Given the description of an element on the screen output the (x, y) to click on. 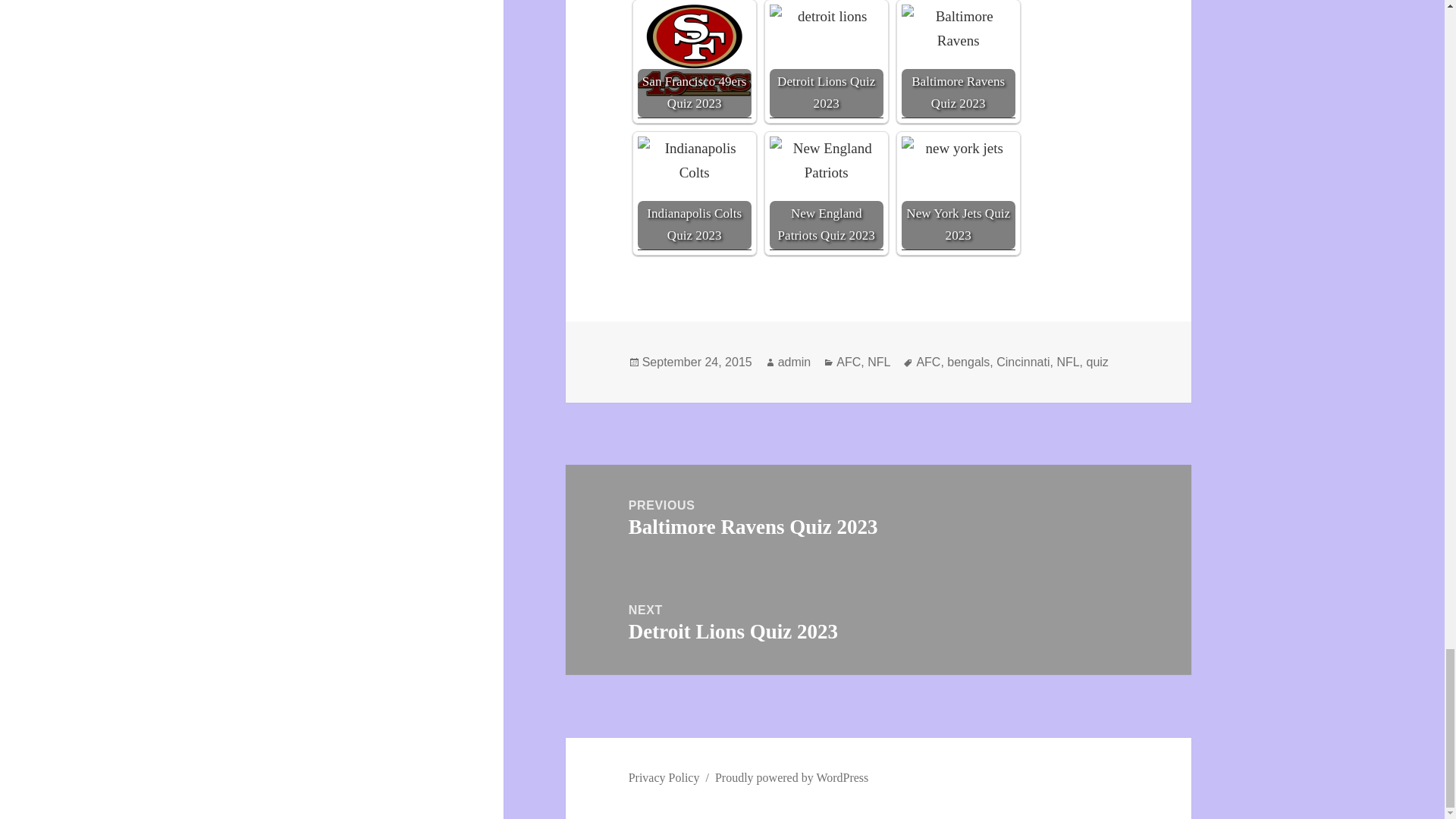
Baltimore Ravens Quiz 2023 (957, 60)
San Francisco 49ers Quiz 2023 (694, 50)
Detroit Lions Quiz 2023 (826, 60)
Indianapolis Colts Quiz 2023 (694, 193)
New York Jets Quiz 2023 (957, 193)
New England Patriots Quiz 2023 (826, 193)
